Given the description of an element on the screen output the (x, y) to click on. 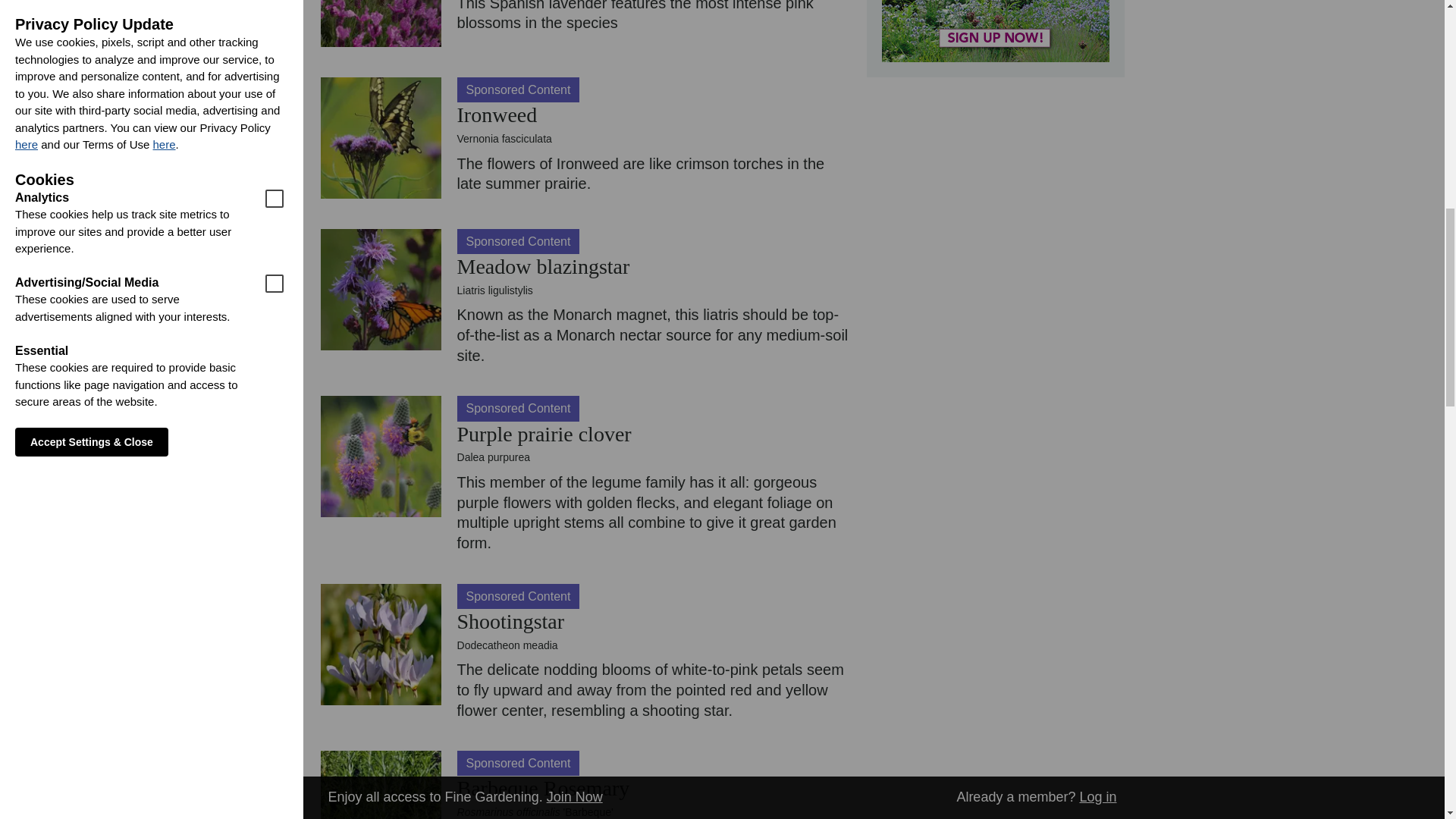
3rd party ad content (994, 31)
